Given the description of an element on the screen output the (x, y) to click on. 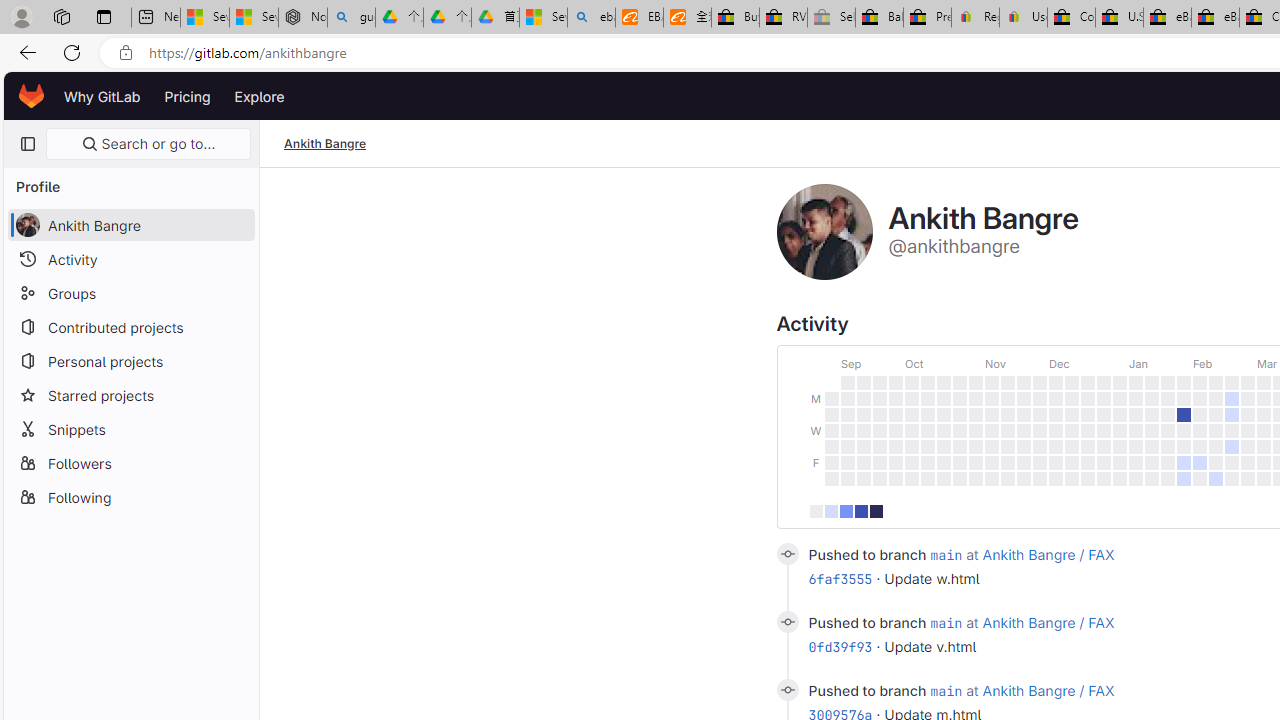
RV, Trailer & Camper Steps & Ladders for sale | eBay (783, 17)
Ankith Bangre (325, 143)
Snippets (130, 428)
